Given the description of an element on the screen output the (x, y) to click on. 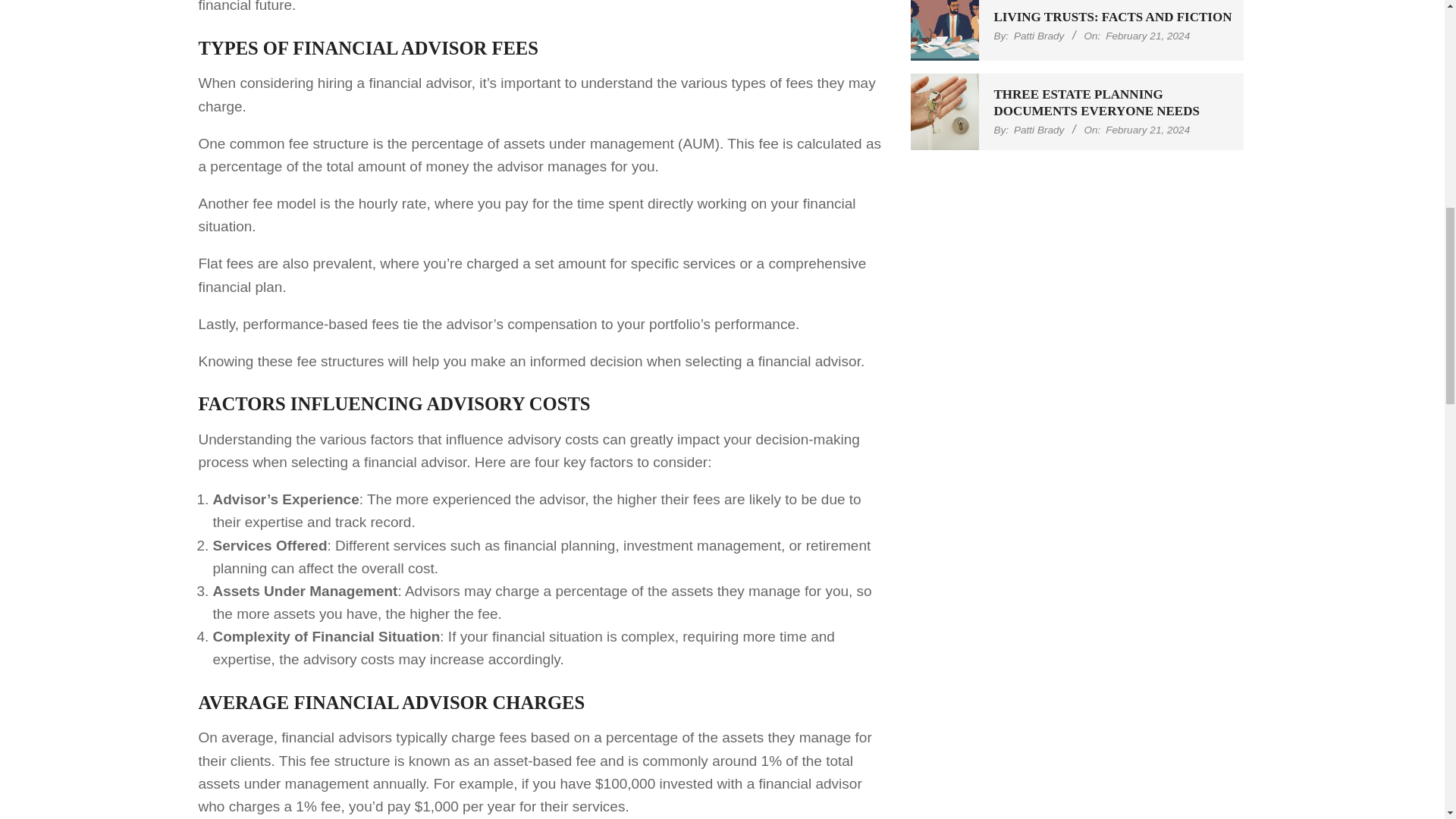
Patti Brady (1038, 35)
Posts by Patti Brady (1038, 35)
Posts by Patti Brady (1038, 129)
Patti Brady (1038, 129)
THREE ESTATE PLANNING DOCUMENTS EVERYONE NEEDS (1095, 102)
Wednesday, February 21, 2024, 11:18 pm (1147, 129)
Wednesday, February 21, 2024, 11:19 pm (1147, 35)
LIVING TRUSTS: FACTS AND FICTION (1111, 16)
